Given the description of an element on the screen output the (x, y) to click on. 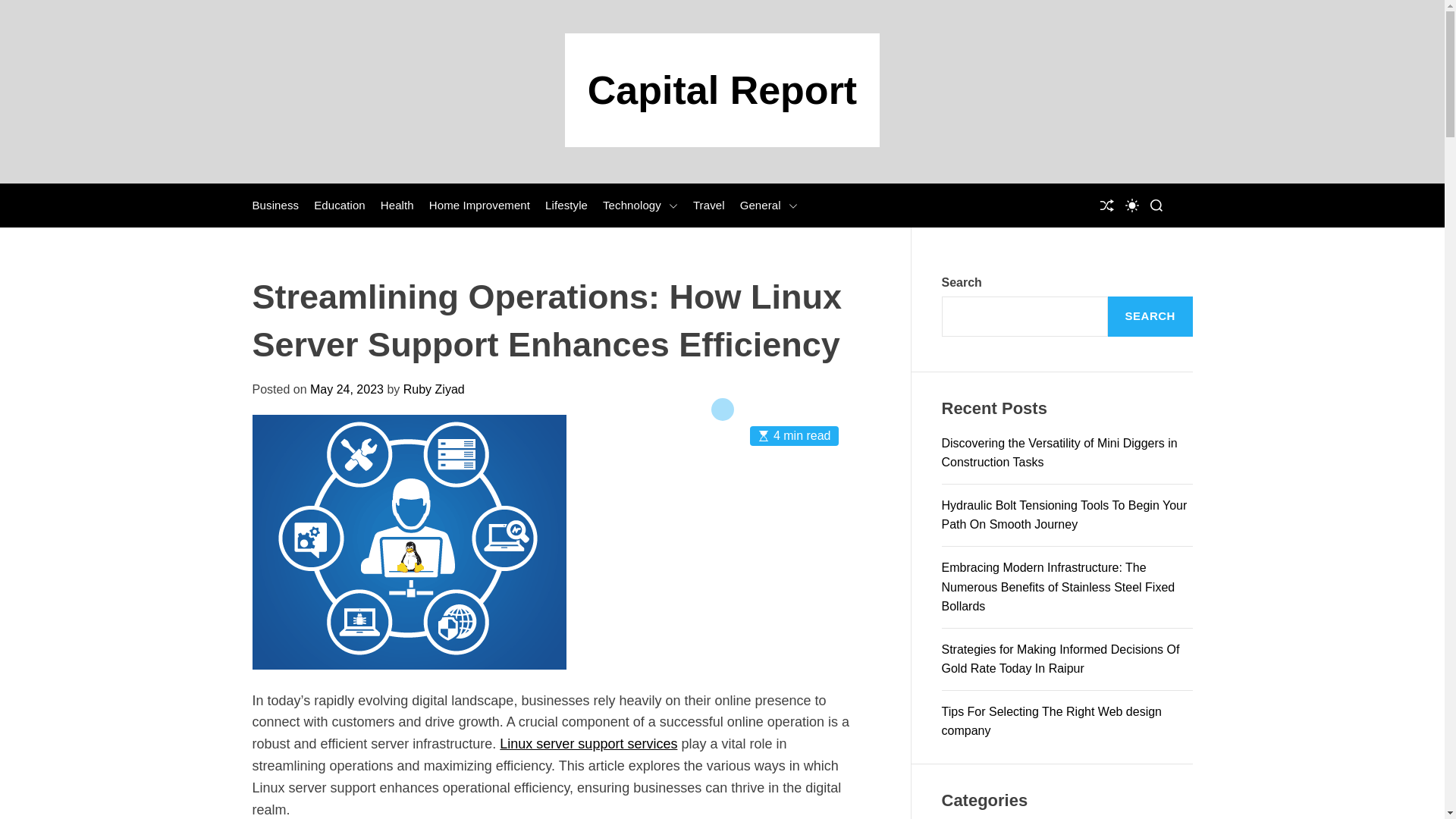
Lifestyle (566, 205)
Education (339, 205)
SEARCH (1155, 205)
SHUFFLE (1106, 205)
Travel (709, 205)
Ruby Ziyad (433, 389)
Home Improvement (479, 205)
Health (396, 205)
Capital Report (722, 89)
May 24, 2023 (347, 389)
Business (274, 205)
SWITCH COLOR MODE (1131, 205)
Linux server support services (588, 743)
Technology (640, 205)
General (768, 205)
